Given the description of an element on the screen output the (x, y) to click on. 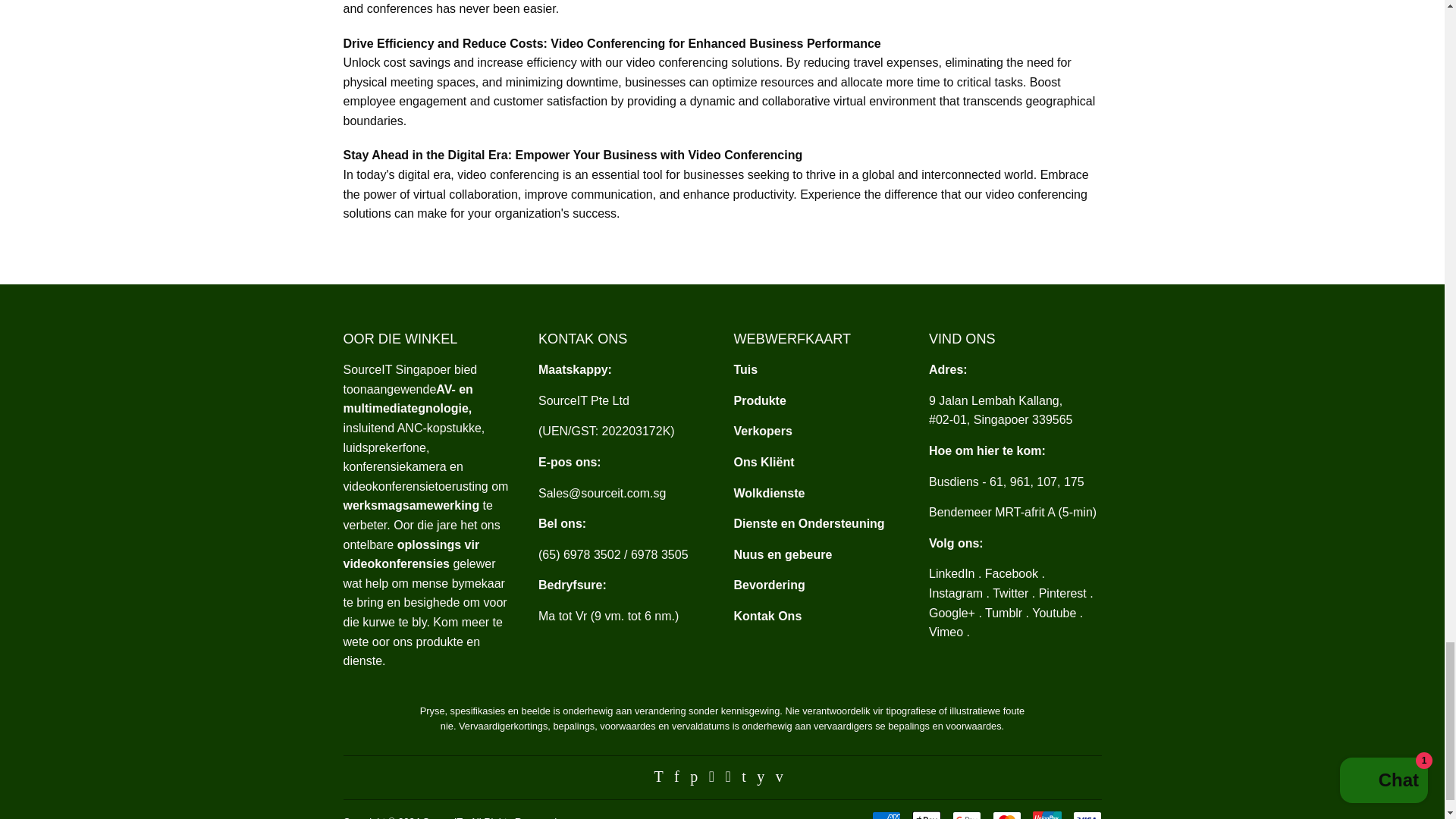
Oplossing vir videokonferensies (410, 554)
Ons Versamelings (759, 400)
Google Pay (966, 815)
Handelsmerke waarmee ons werk (762, 431)
Mastercard (1005, 815)
Union Pay (1046, 815)
Wolkdienste (769, 492)
Visa (1085, 815)
Werksmagkommunikasie en -samewerking (410, 504)
Oor SourceIT Pte Ltd (406, 399)
Aanbiedings en promosie (769, 584)
American Express (886, 815)
SourceIT - Videokonferensieverskaffer in Singapoer (745, 369)
Apple Pay (925, 815)
